Given the description of an element on the screen output the (x, y) to click on. 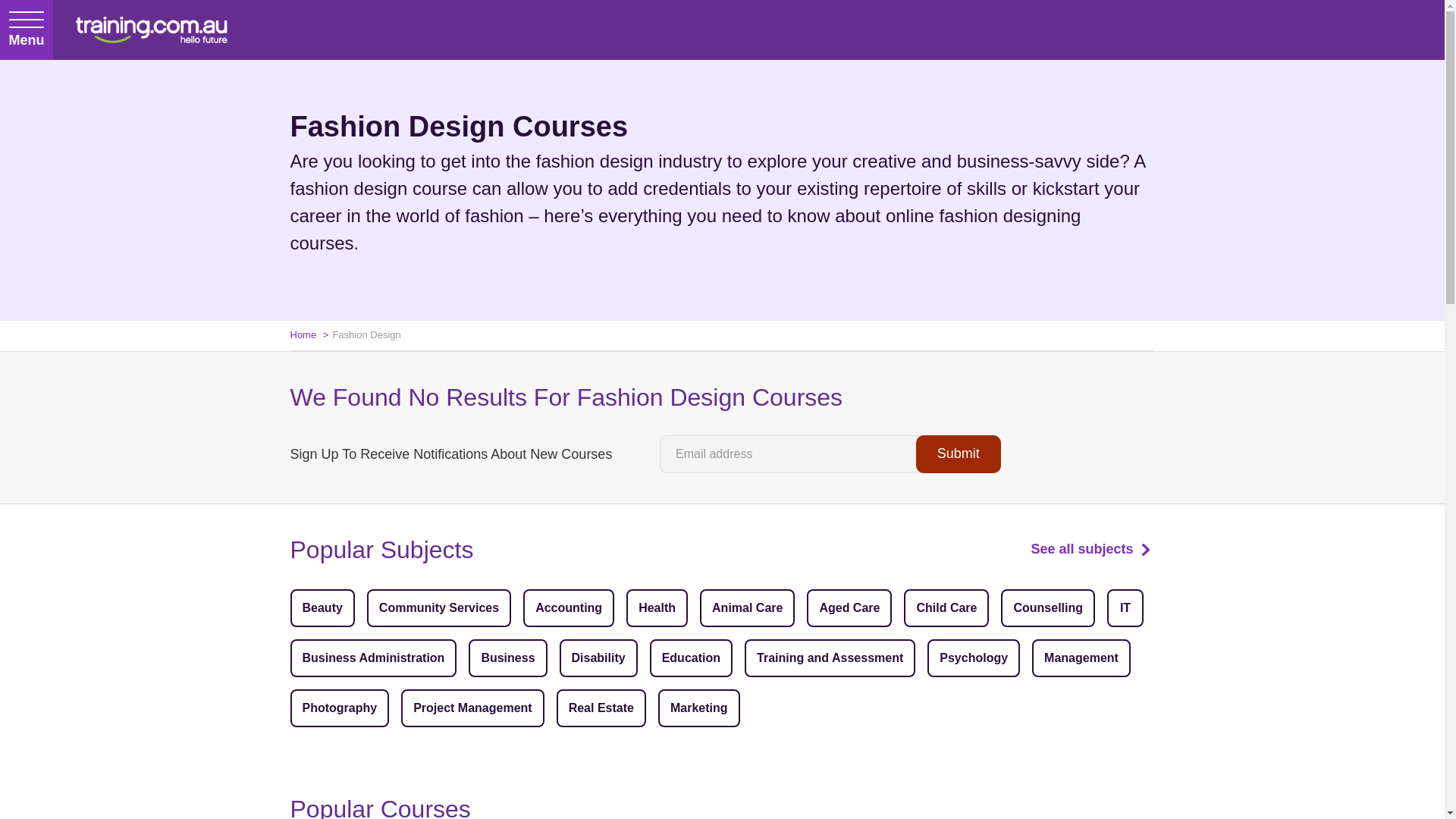
Accounting Courses (568, 607)
Psychology Courses (973, 658)
IT Courses (1124, 607)
Animal Care Courses (747, 607)
Aged Care Courses (848, 607)
Business Administration Courses (373, 658)
Community Services Courses (438, 607)
Business Courses (507, 658)
Child Care Courses (946, 607)
Menu (26, 29)
Beauty Courses (321, 607)
Management Courses (1081, 658)
Project Management Courses (472, 708)
Education Courses (690, 658)
Counselling Courses (1047, 607)
